Given the description of an element on the screen output the (x, y) to click on. 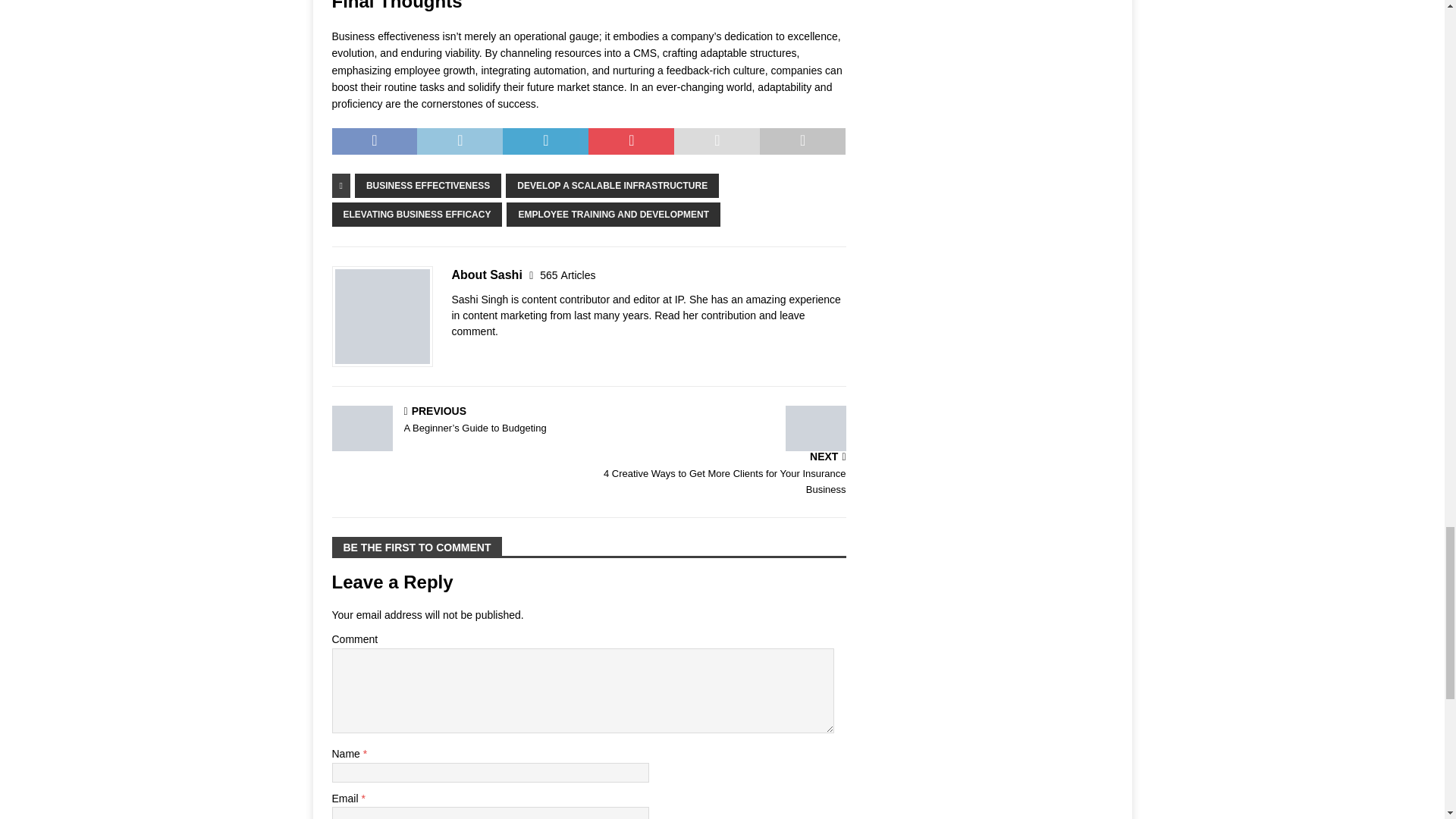
More articles written by Sashi' (567, 275)
